Given the description of an element on the screen output the (x, y) to click on. 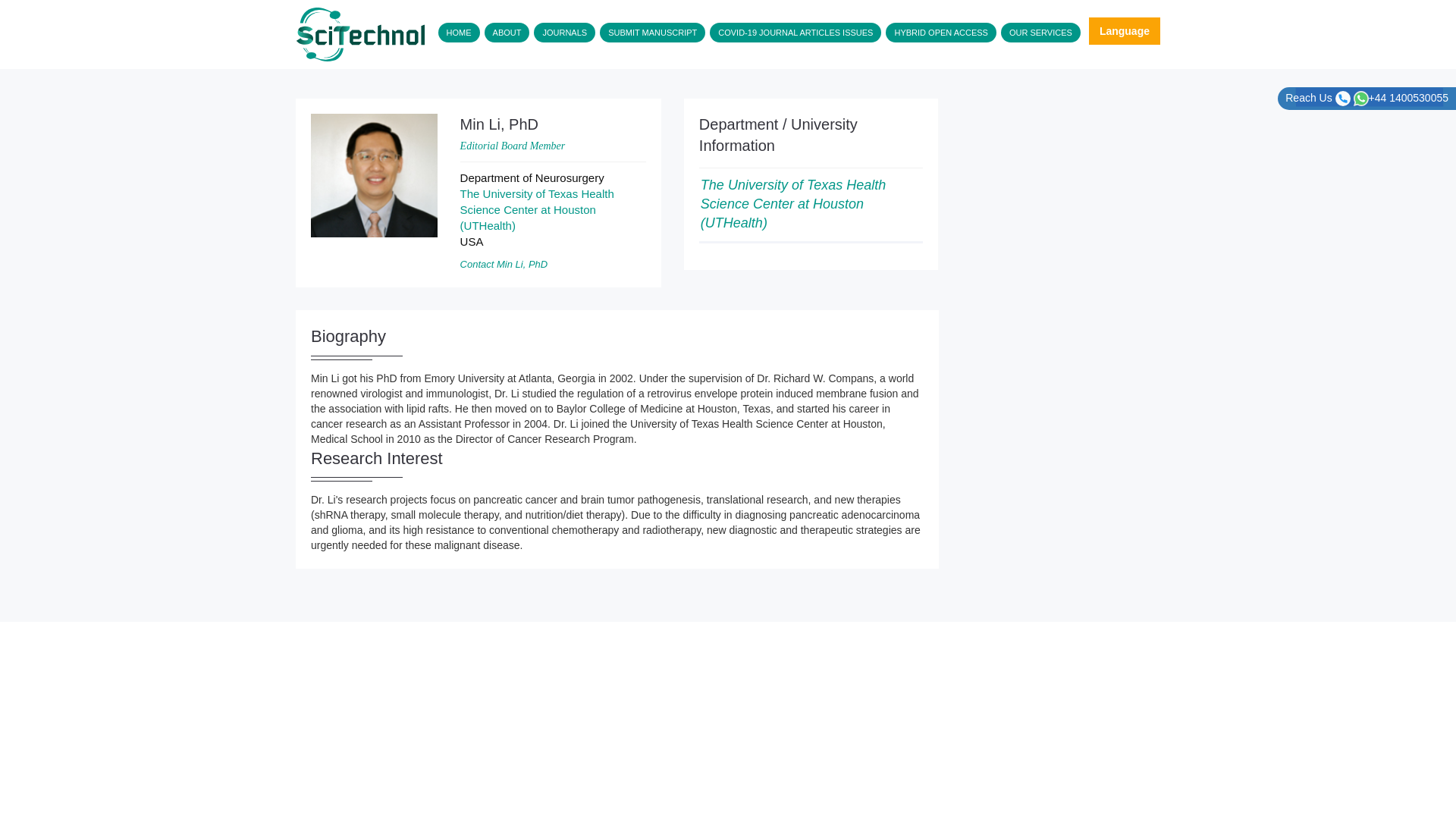
HYBRID OPEN ACCESS (940, 32)
Language (1124, 31)
JOURNALS (564, 32)
OUR SERVICES (1040, 32)
HOME (459, 32)
ABOUT (506, 32)
COVID-19 JOURNAL ARTICLES ISSUES (795, 32)
SUBMIT MANUSCRIPT (651, 32)
Contact Min Li, PhD (504, 264)
